Given the description of an element on the screen output the (x, y) to click on. 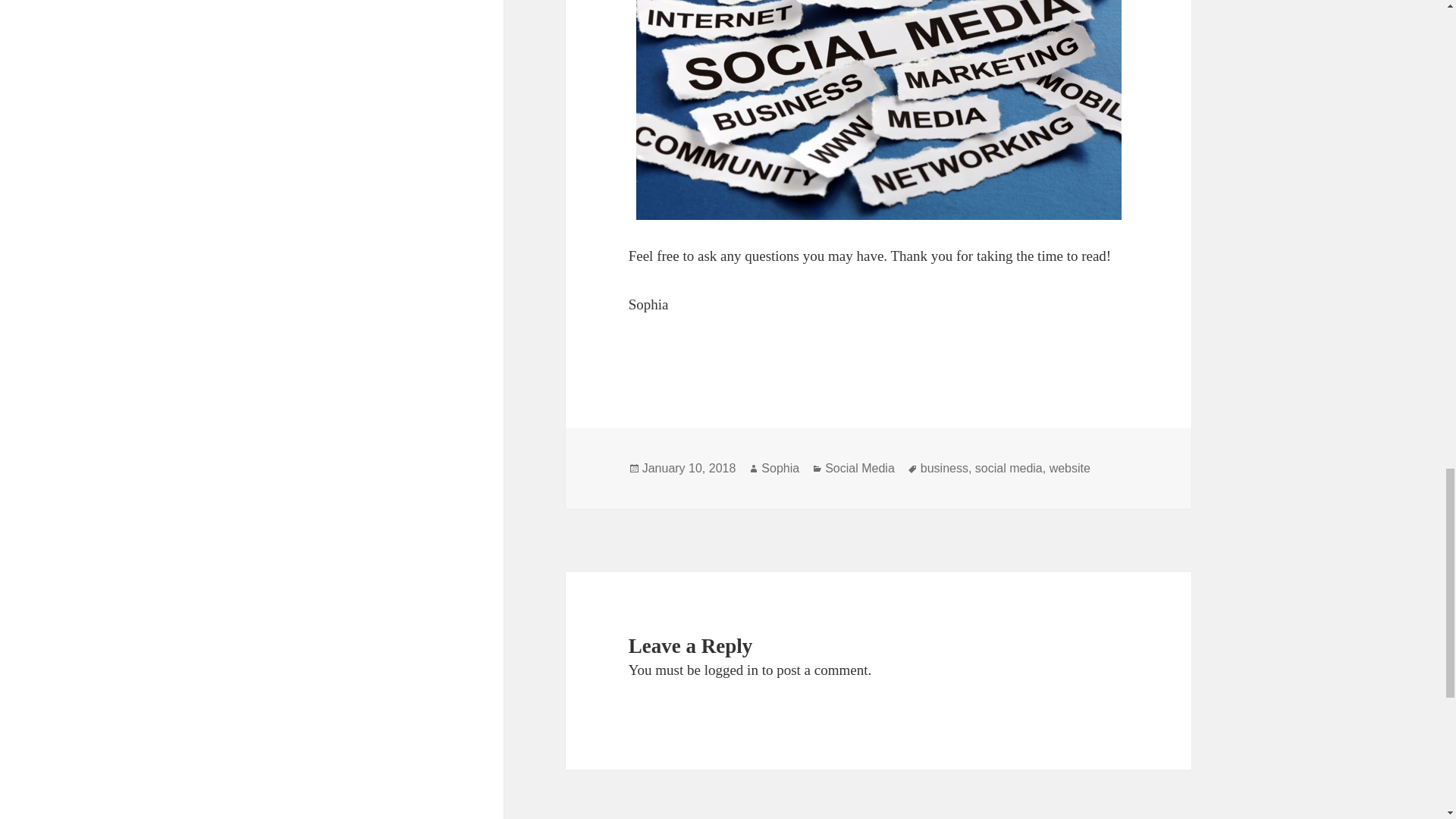
January 10, 2018 (689, 468)
Sophia (780, 468)
business (944, 468)
logged in (731, 669)
website (1069, 468)
Social Media (860, 468)
social media (1008, 468)
